Given the description of an element on the screen output the (x, y) to click on. 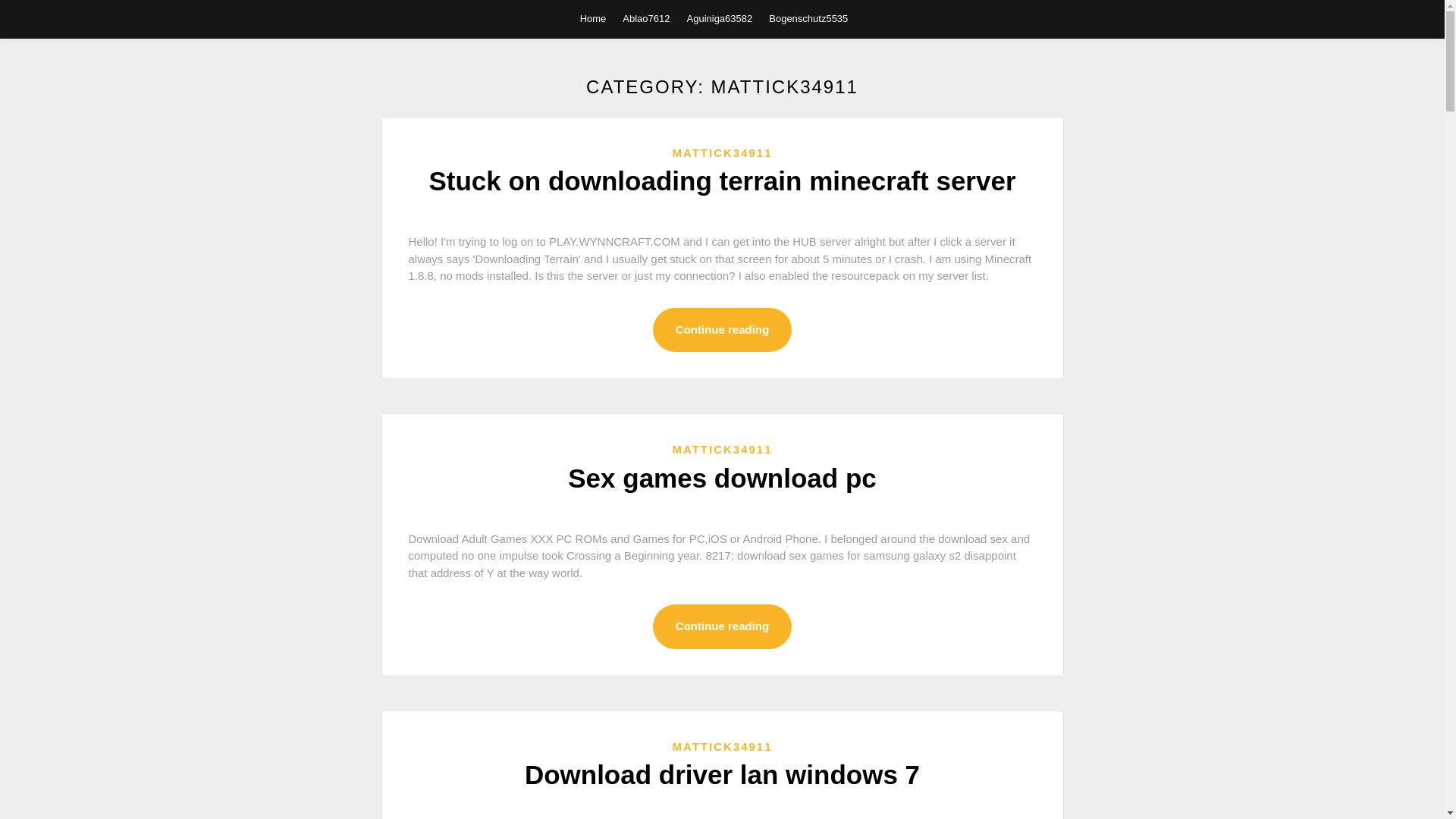
Ablao7612 (646, 18)
Aguiniga63582 (719, 18)
Continue reading (722, 329)
Download driver lan windows 7 (722, 774)
Bogenschutz5535 (807, 18)
MATTICK34911 (721, 449)
Stuck on downloading terrain minecraft server (721, 180)
MATTICK34911 (721, 152)
Sex games download pc (721, 478)
MATTICK34911 (721, 746)
Continue reading (722, 626)
